Given the description of an element on the screen output the (x, y) to click on. 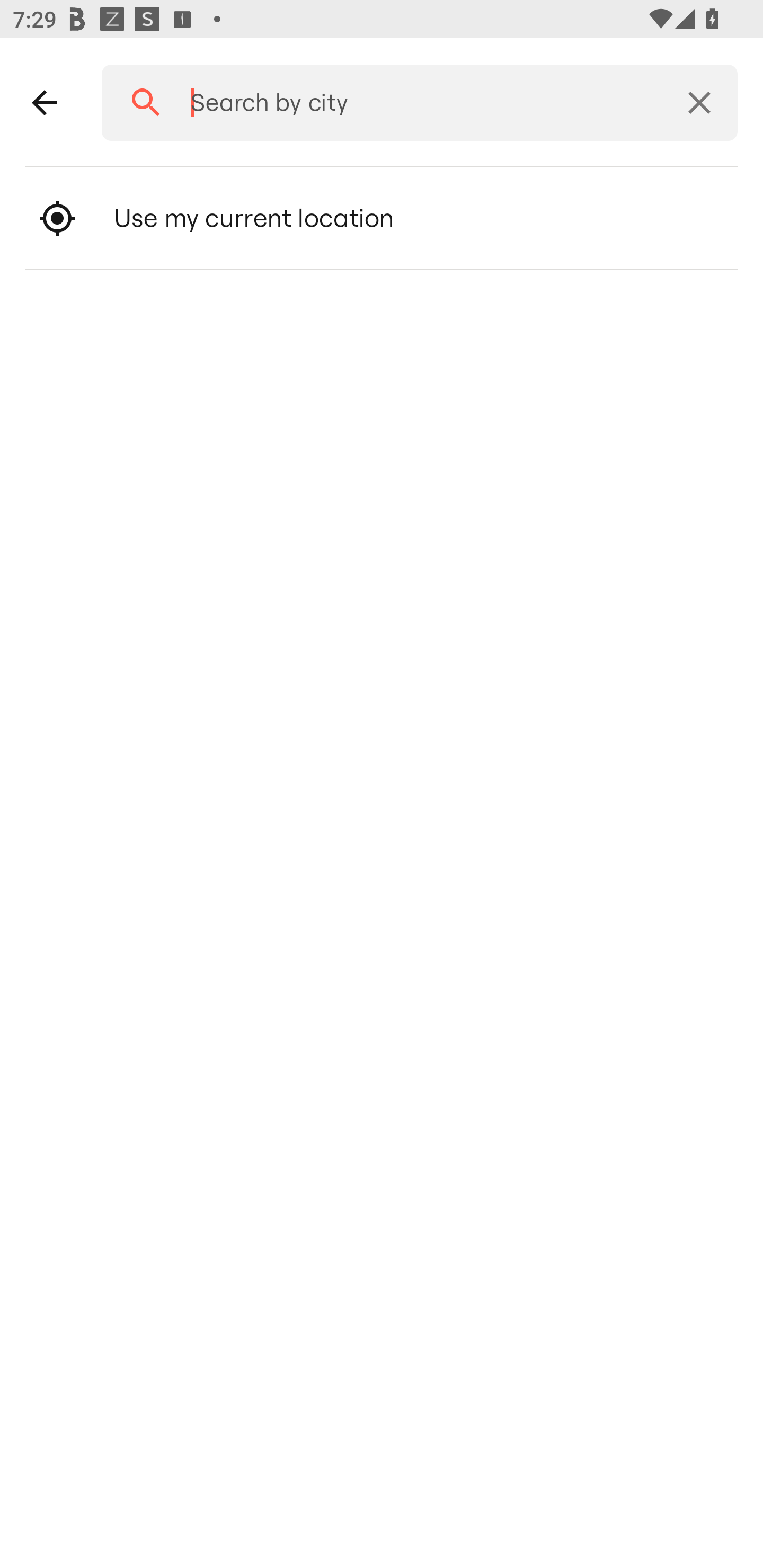
Back (44, 102)
Search by city (413, 102)
Clear (699, 102)
Use my current location (381, 218)
